Given the description of an element on the screen output the (x, y) to click on. 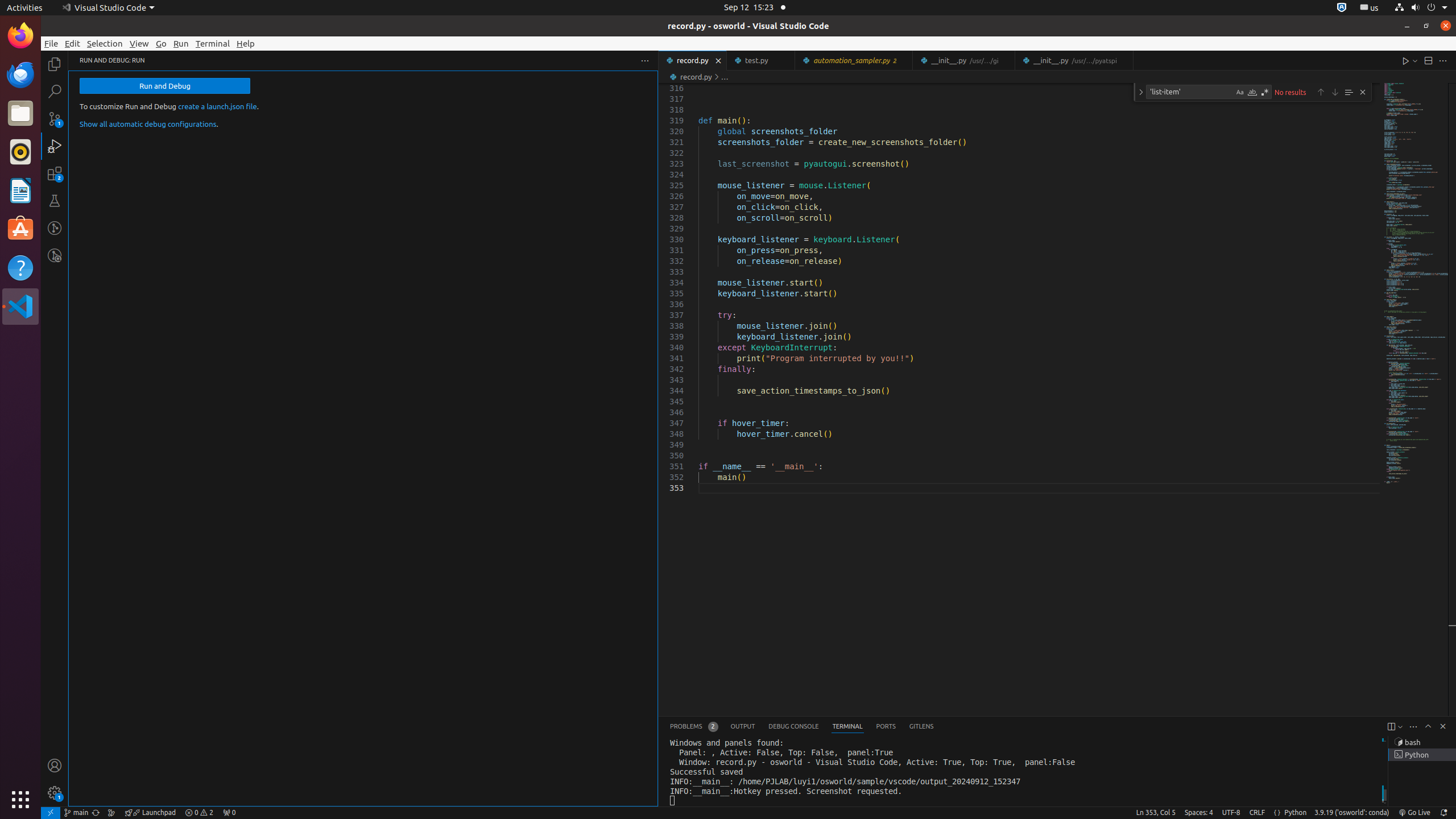
automation_sampler.py, preview Element type: page-tab (854, 60)
Search (Ctrl+Shift+F) Element type: page-tab (54, 91)
Launch Profile... Element type: push-button (1399, 726)
Toggle Replace Element type: push-button (1140, 92)
